Given the description of an element on the screen output the (x, y) to click on. 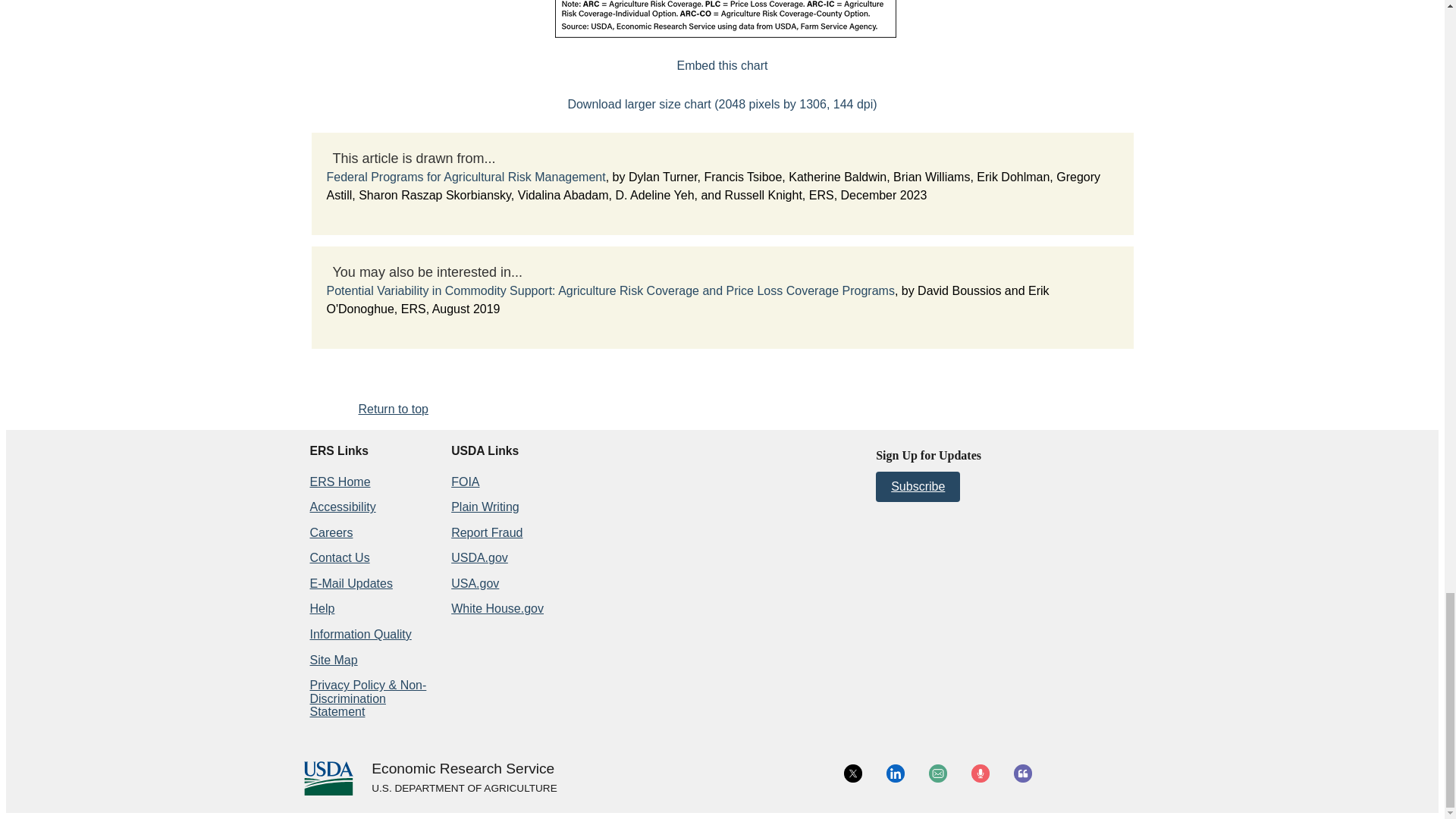
Embed this chart (722, 65)
LinkedIn icon (894, 773)
USDA.gov (463, 788)
ERS Home (338, 481)
Multimedia Icon (979, 773)
Home (462, 768)
Accessibility (341, 506)
Blog Icon (1021, 773)
Annual enrollment in ARC and PLC differs by commodity (722, 65)
